Given the description of an element on the screen output the (x, y) to click on. 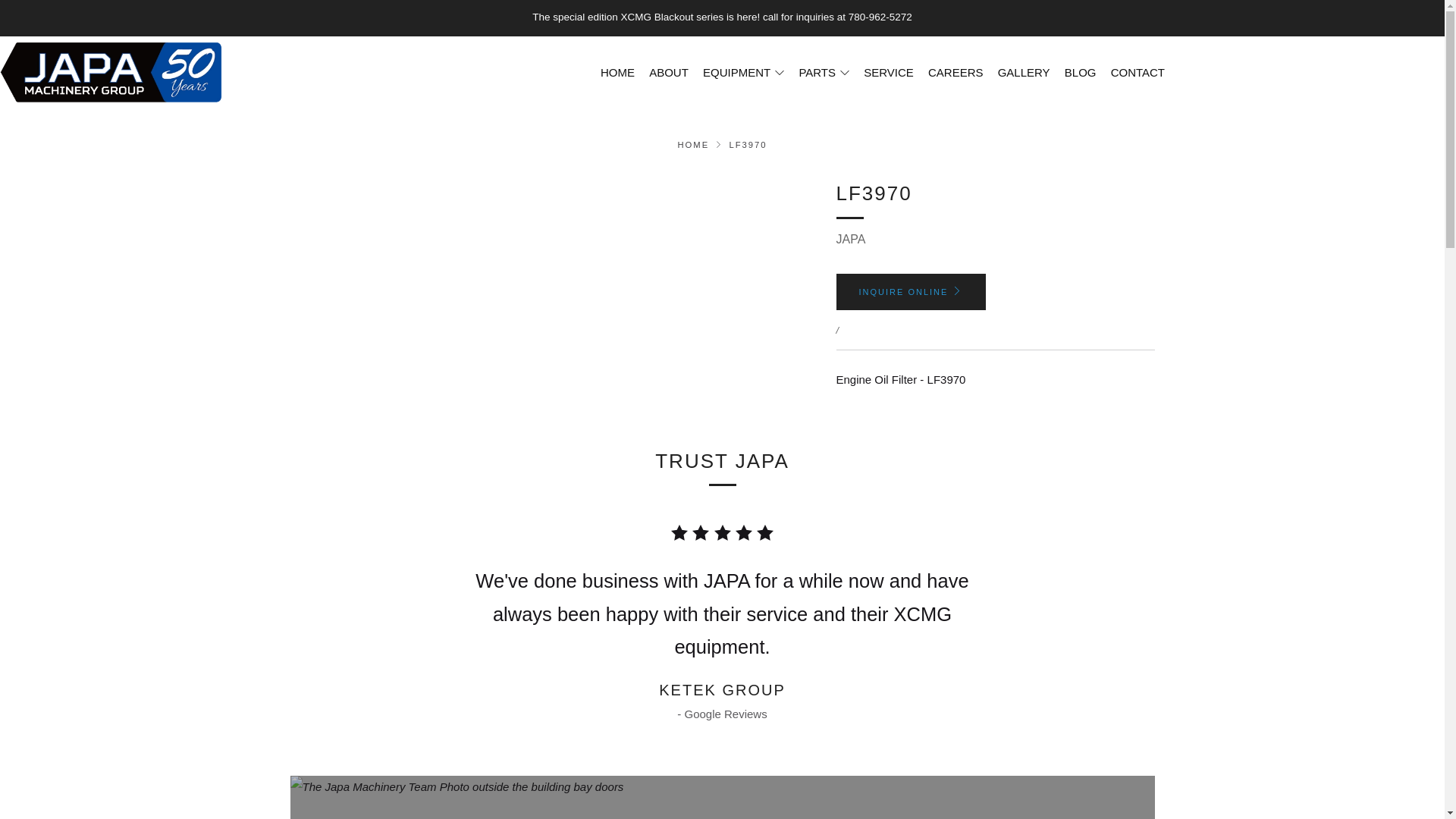
Home (693, 144)
JAPA (849, 238)
